Given the description of an element on the screen output the (x, y) to click on. 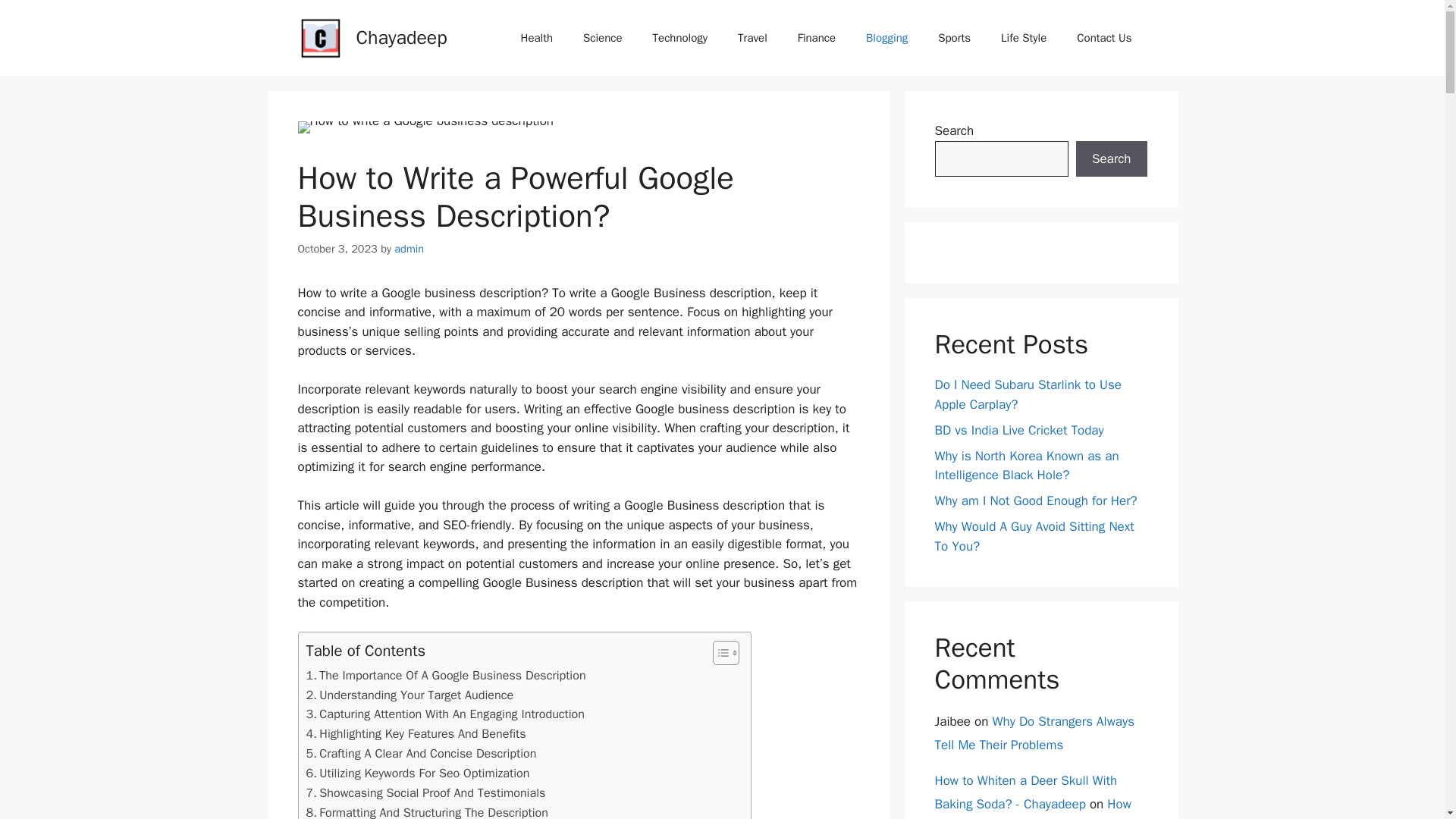
Formatting And Structuring The Description (426, 811)
Formatting And Structuring The Description (426, 811)
Technology (680, 37)
Utilizing Keywords For Seo Optimization (417, 772)
The Importance Of A Google Business Description (445, 675)
Utilizing Keywords For Seo Optimization (417, 772)
Crafting A Clear And Concise Description (421, 753)
Blogging (886, 37)
Capturing Attention With An Engaging Introduction (445, 713)
admin (408, 248)
Understanding Your Target Audience (409, 695)
The Importance Of A Google Business Description (445, 675)
Finance (816, 37)
Understanding Your Target Audience (409, 695)
Showcasing Social Proof And Testimonials (425, 792)
